Given the description of an element on the screen output the (x, y) to click on. 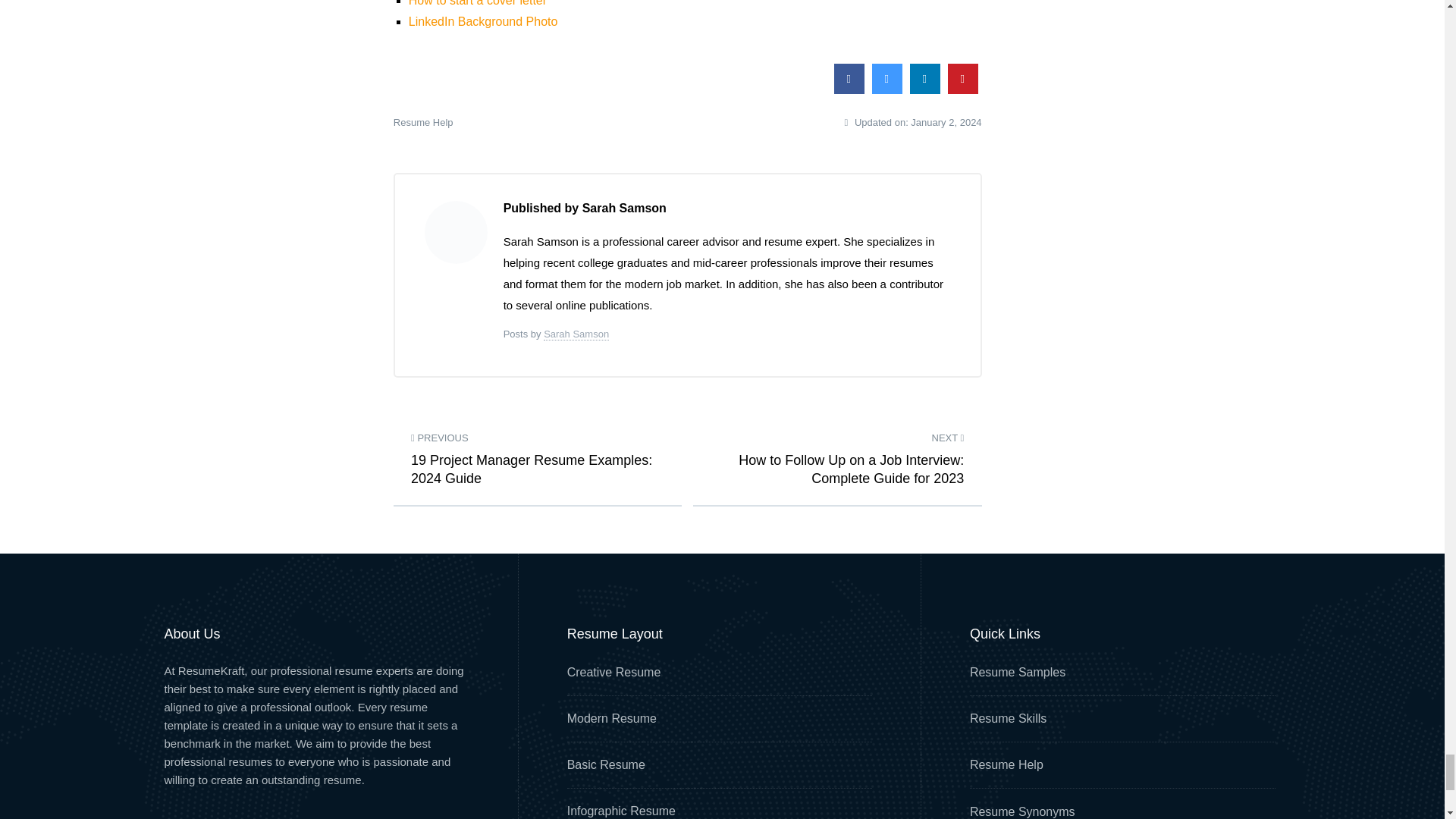
Share on Pinterest (962, 89)
Posts by  Sarah Samson (456, 230)
Share on Twitter (887, 89)
Share on Facebook (849, 89)
Share to LinkedIn (925, 89)
Posts by Sarah Samson (575, 334)
